Given the description of an element on the screen output the (x, y) to click on. 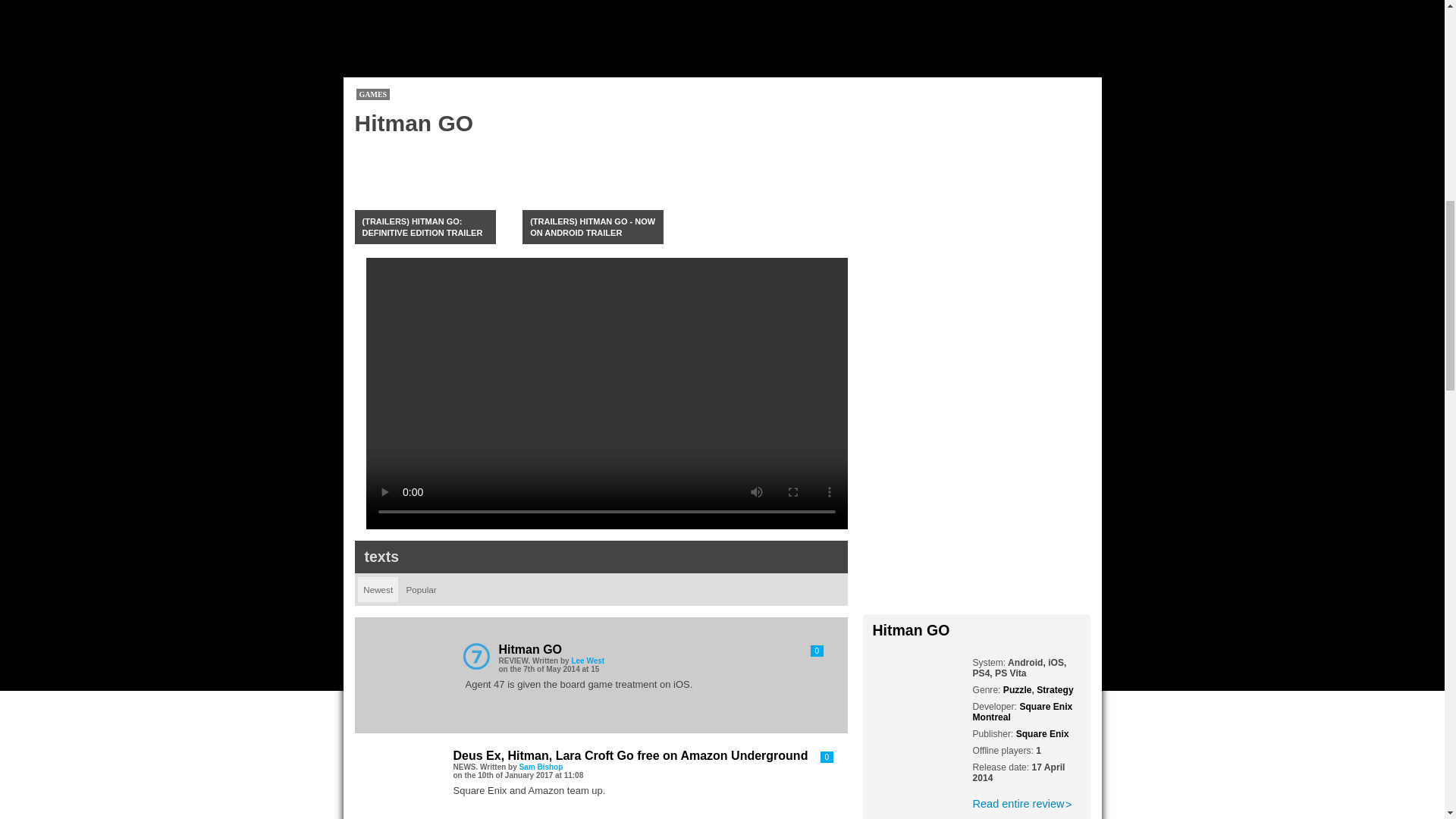
Hitman GO - Now on Android Trailer (600, 188)
Hitman GO: Definitive Edition trailer (433, 188)
Hitman GO (1018, 803)
Hitman GO (910, 629)
